Given the description of an element on the screen output the (x, y) to click on. 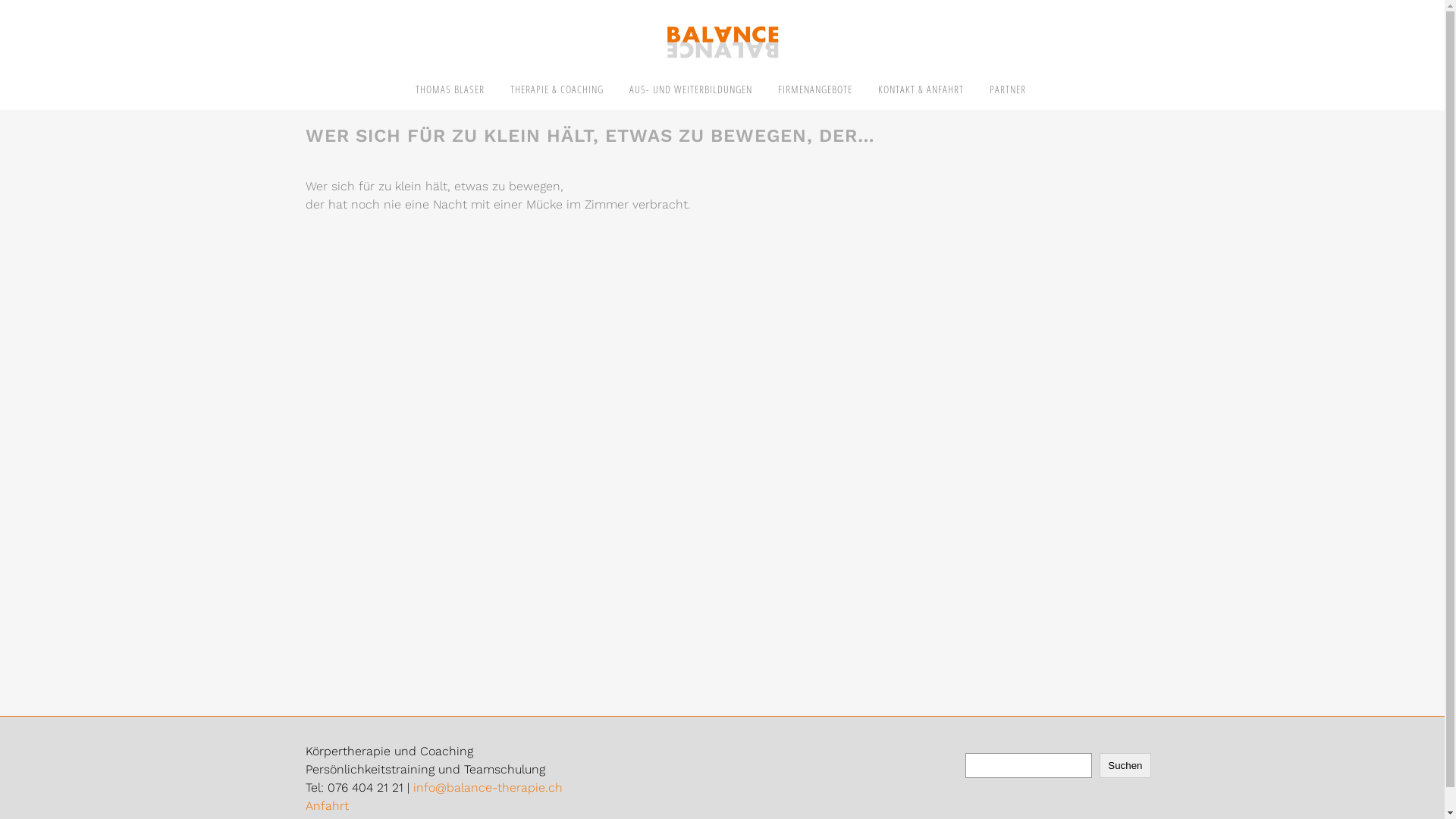
info@balance-therapie.ch Element type: text (486, 787)
PARTNER Element type: text (1007, 88)
KONTAKT & ANFAHRT Element type: text (919, 88)
AUS- UND WEITERBILDUNGEN Element type: text (689, 88)
Anfahrt Element type: text (326, 805)
FIRMENANGEBOTE Element type: text (814, 88)
Suchen Element type: text (1124, 765)
THERAPIE & COACHING Element type: text (556, 88)
THOMAS BLASER Element type: text (448, 88)
